Given the description of an element on the screen output the (x, y) to click on. 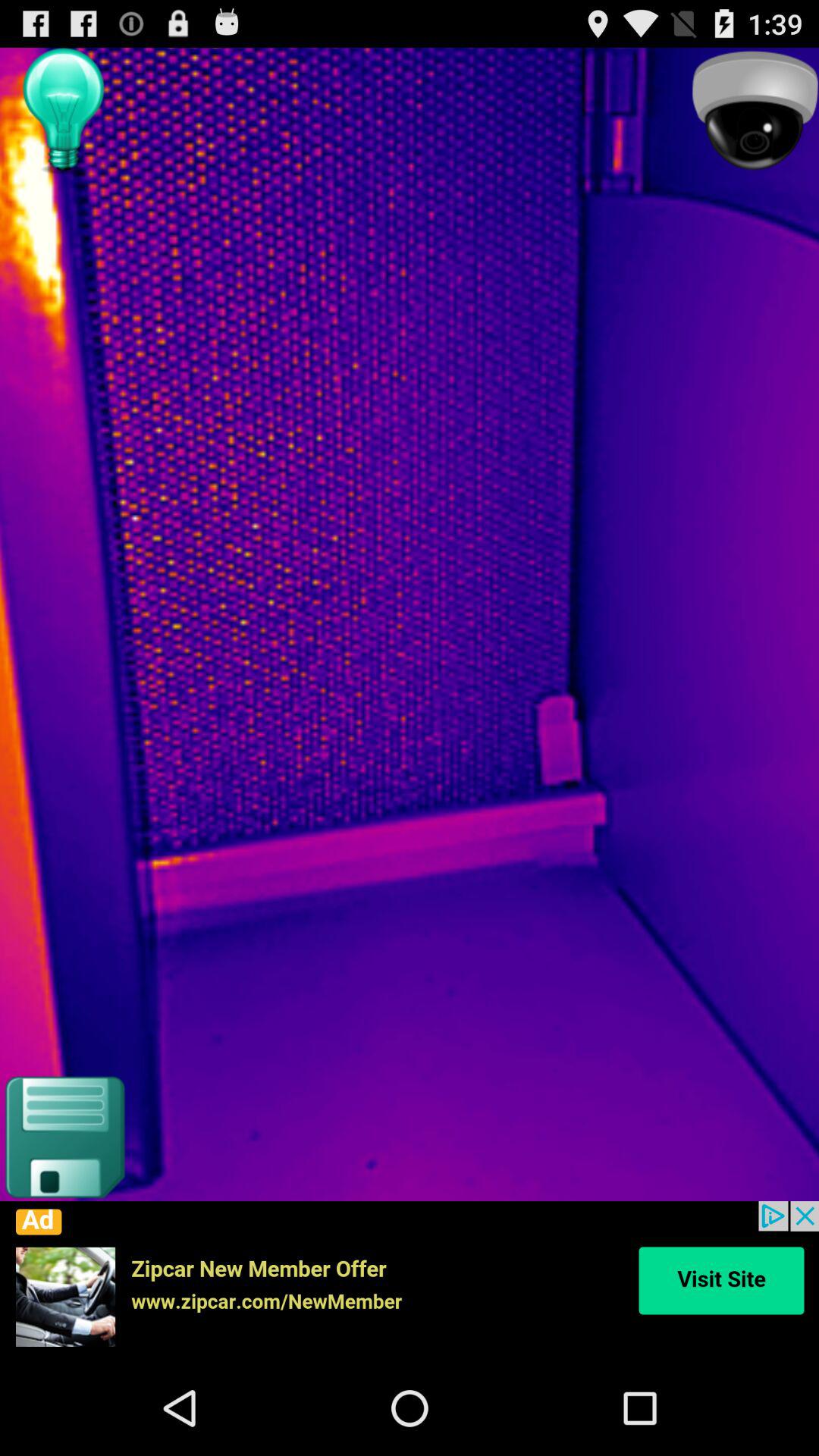
advertisement (409, 1280)
